Given the description of an element on the screen output the (x, y) to click on. 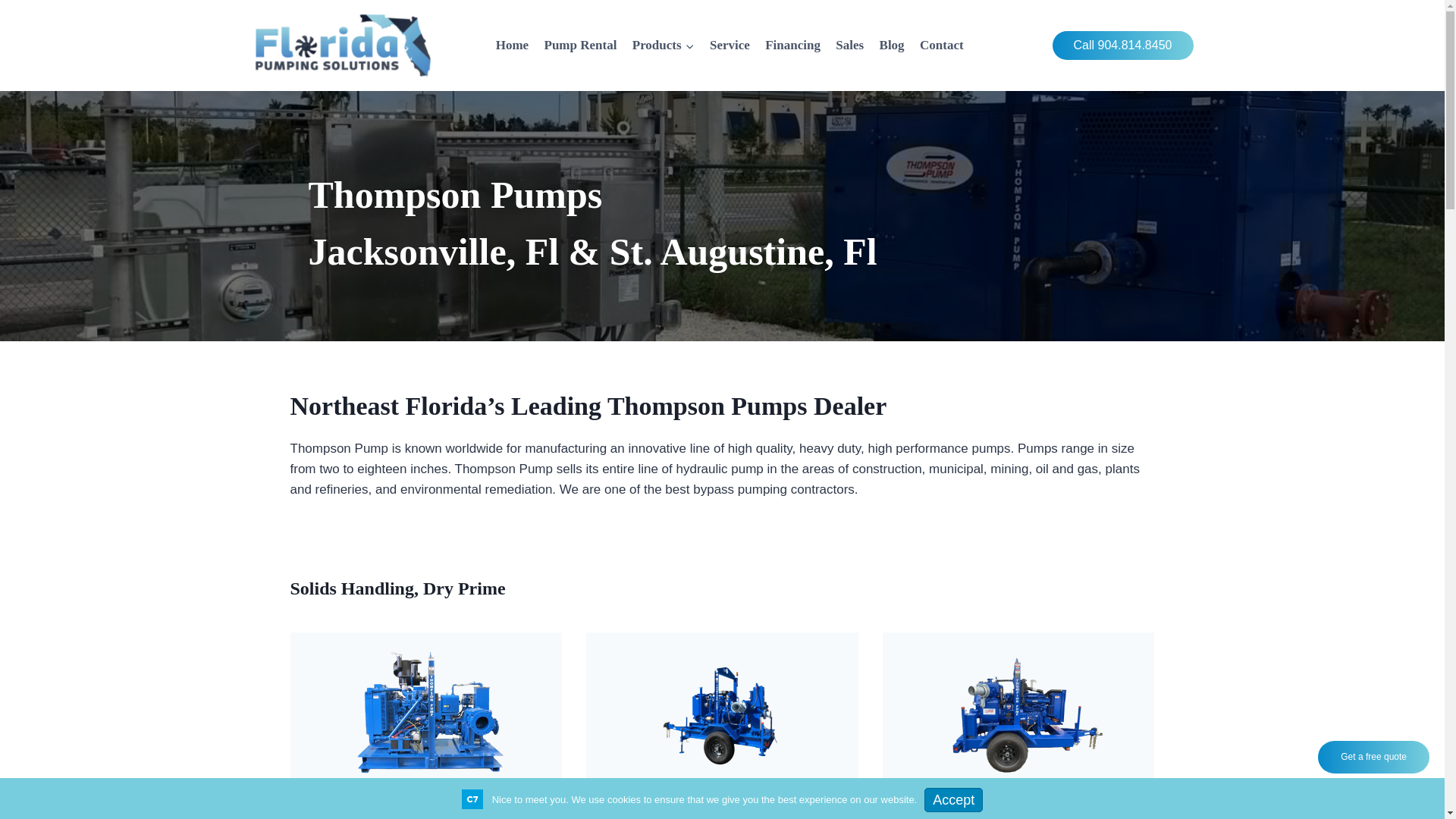
Blog (890, 45)
Home (512, 45)
Pump Rental (579, 45)
Products (662, 45)
Financing (792, 45)
Call 904.814.8450 (1122, 45)
Contact (941, 45)
Service (729, 45)
Get a free quote (1373, 757)
Sales (849, 45)
